Given the description of an element on the screen output the (x, y) to click on. 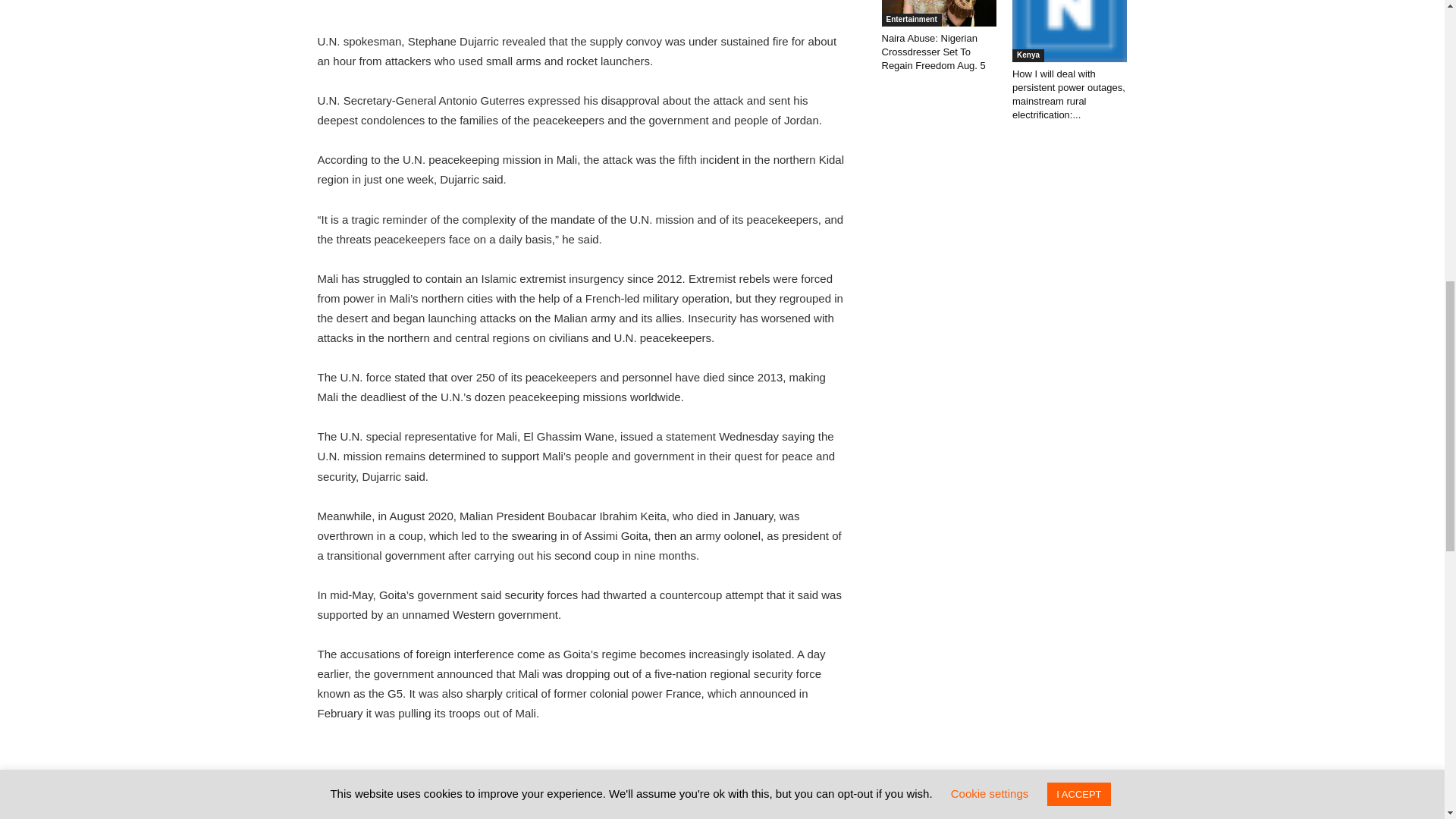
Advertisement (580, 7)
